Given the description of an element on the screen output the (x, y) to click on. 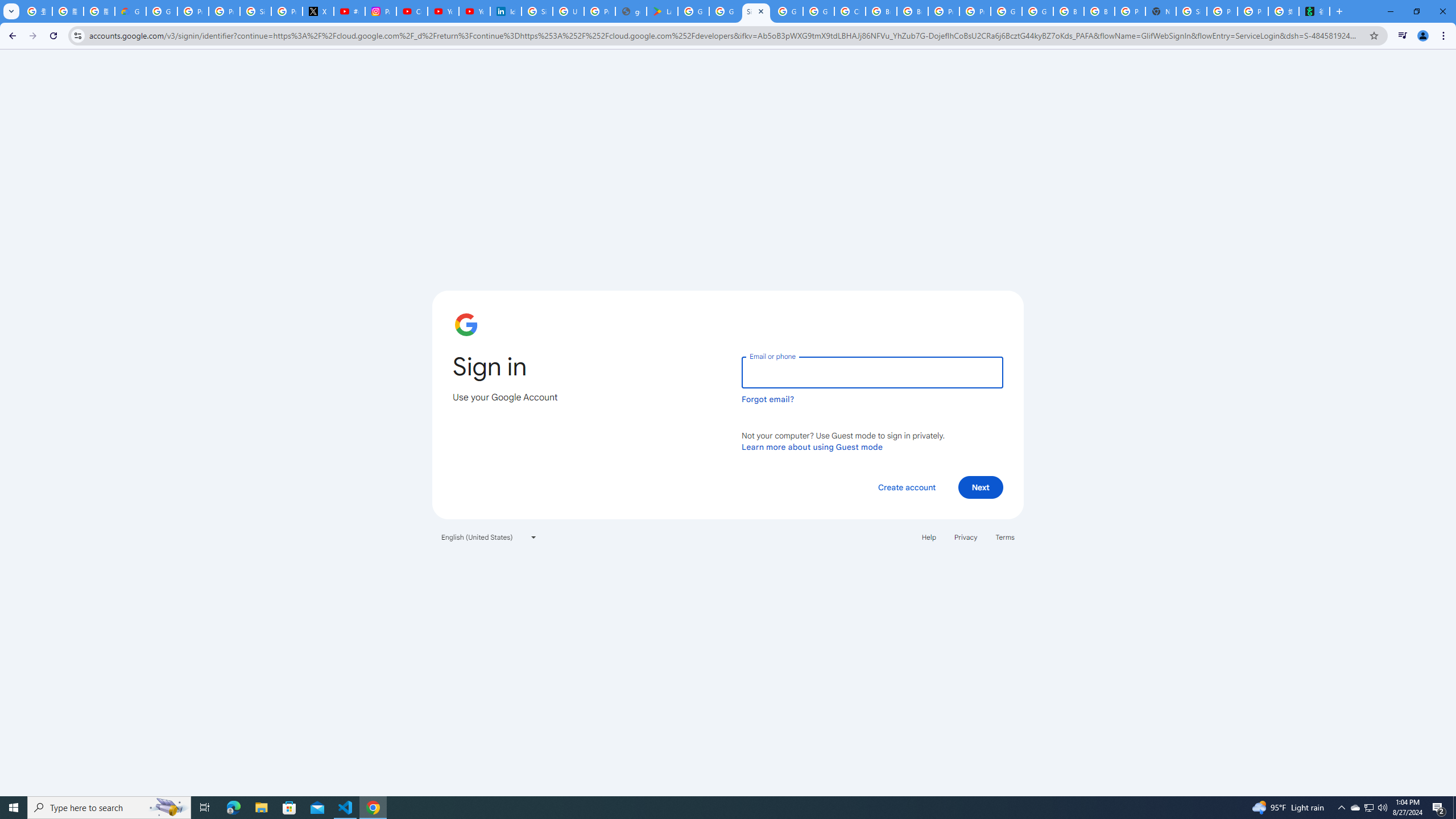
Google Cloud Platform (1037, 11)
YouTube Culture & Trends - YouTube Top 10, 2021 (474, 11)
Google Cloud Platform (1005, 11)
